Given the description of an element on the screen output the (x, y) to click on. 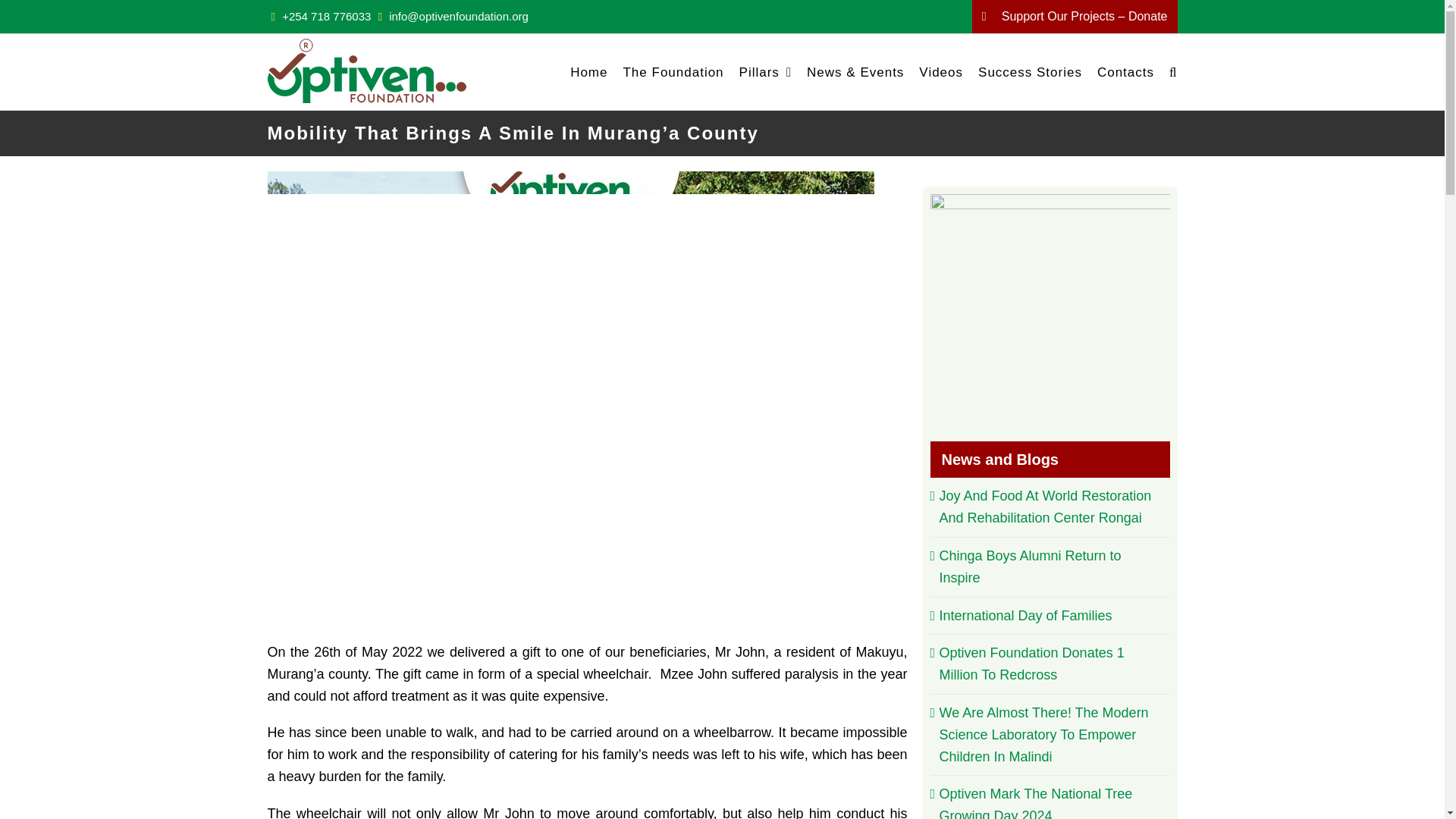
Pillars (765, 71)
The Foundation (673, 71)
Home (588, 71)
Search (1172, 71)
Contacts (1125, 71)
Videos (940, 71)
Success Stories (1029, 71)
